Given the description of an element on the screen output the (x, y) to click on. 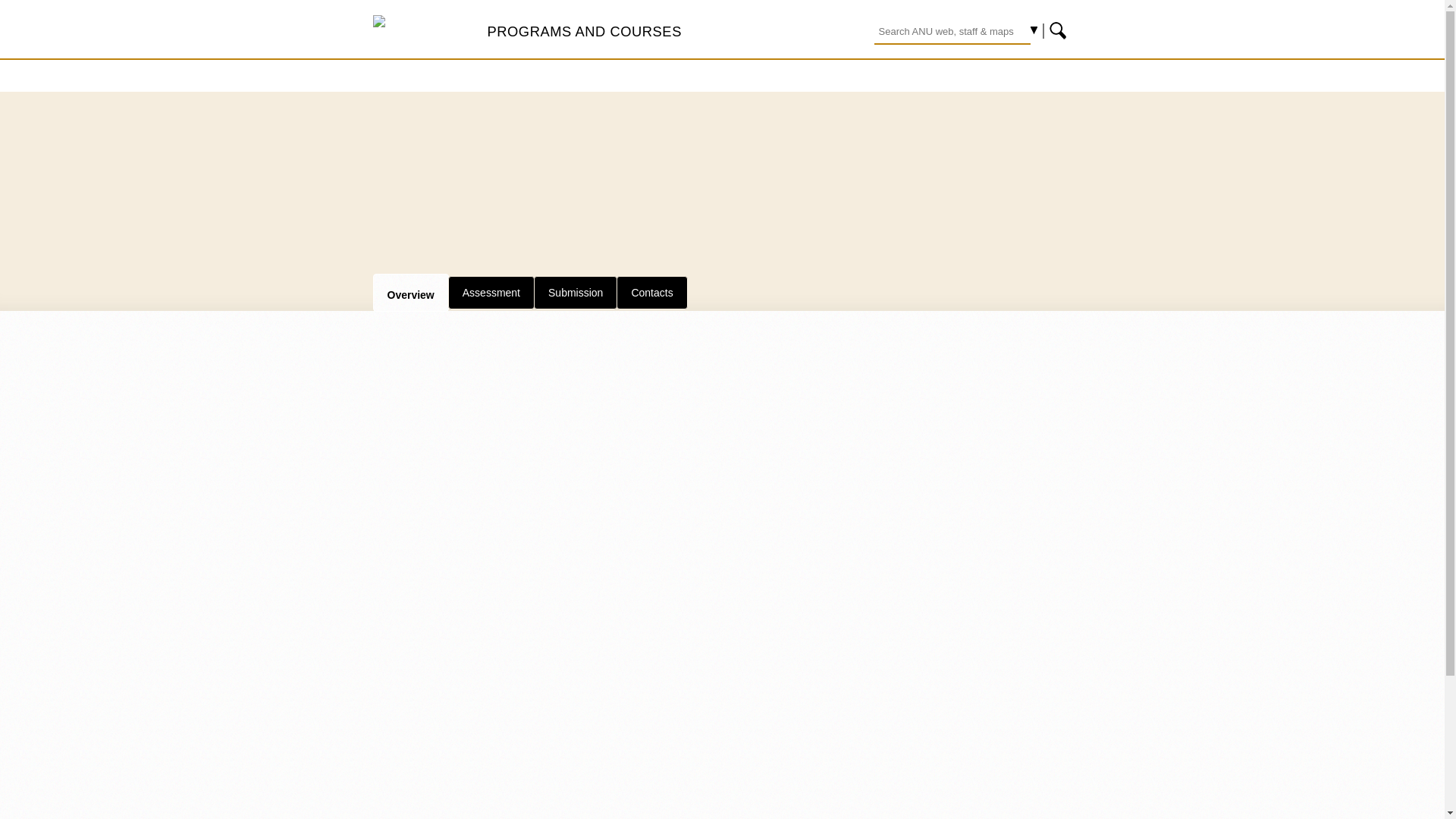
Submission (575, 292)
Overview (410, 292)
Go (1059, 30)
Contacts (651, 292)
PROGRAMS AND COURSES (583, 31)
Assessment (491, 292)
